Given the description of an element on the screen output the (x, y) to click on. 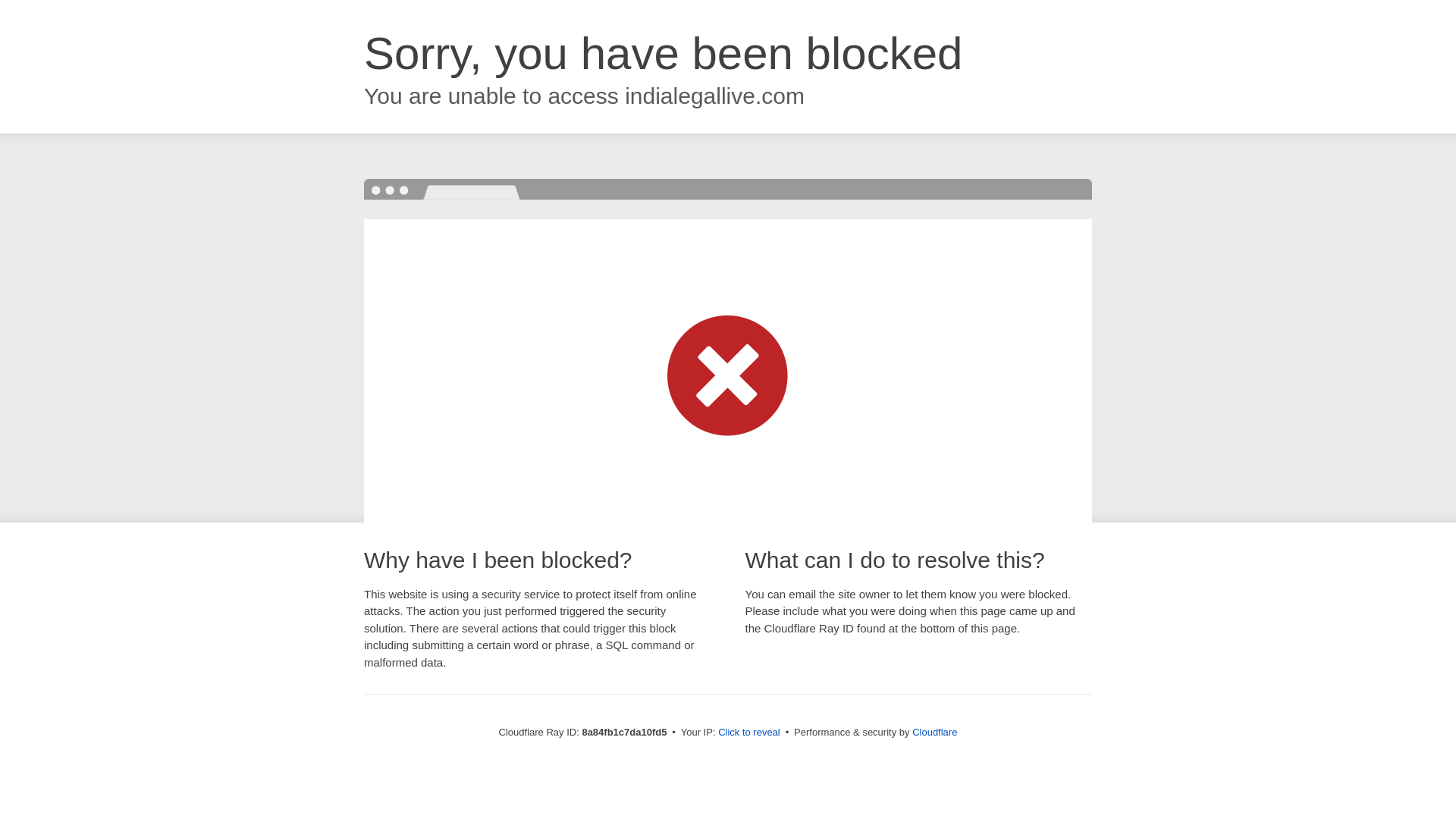
Cloudflare (934, 731)
Click to reveal (748, 732)
